Given the description of an element on the screen output the (x, y) to click on. 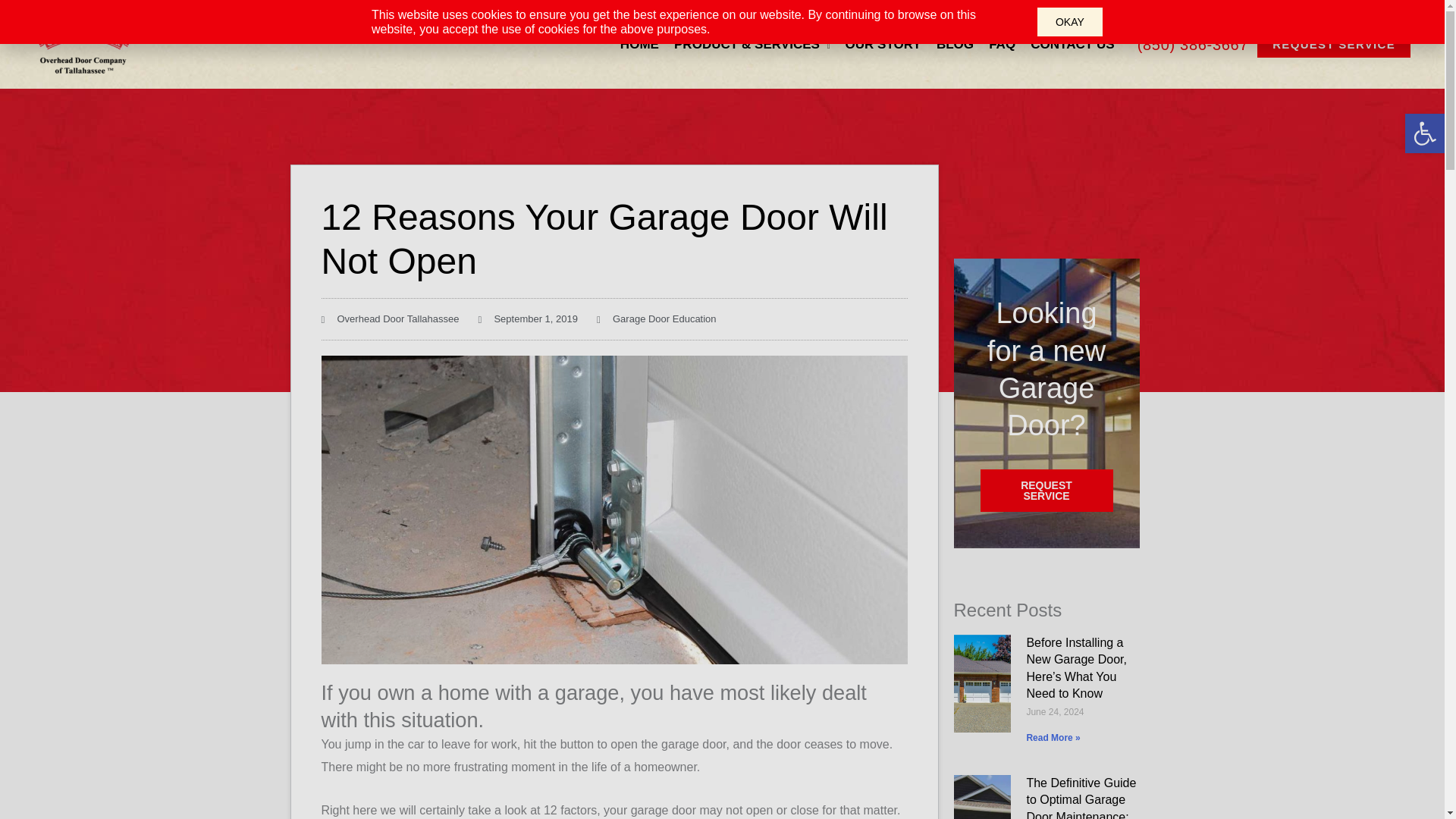
BLOG (954, 44)
OUR STORY (882, 44)
REQUEST SERVICE (1333, 44)
Accessibility Tools (1424, 133)
HOME (639, 44)
CONTACT US (1072, 44)
